Given the description of an element on the screen output the (x, y) to click on. 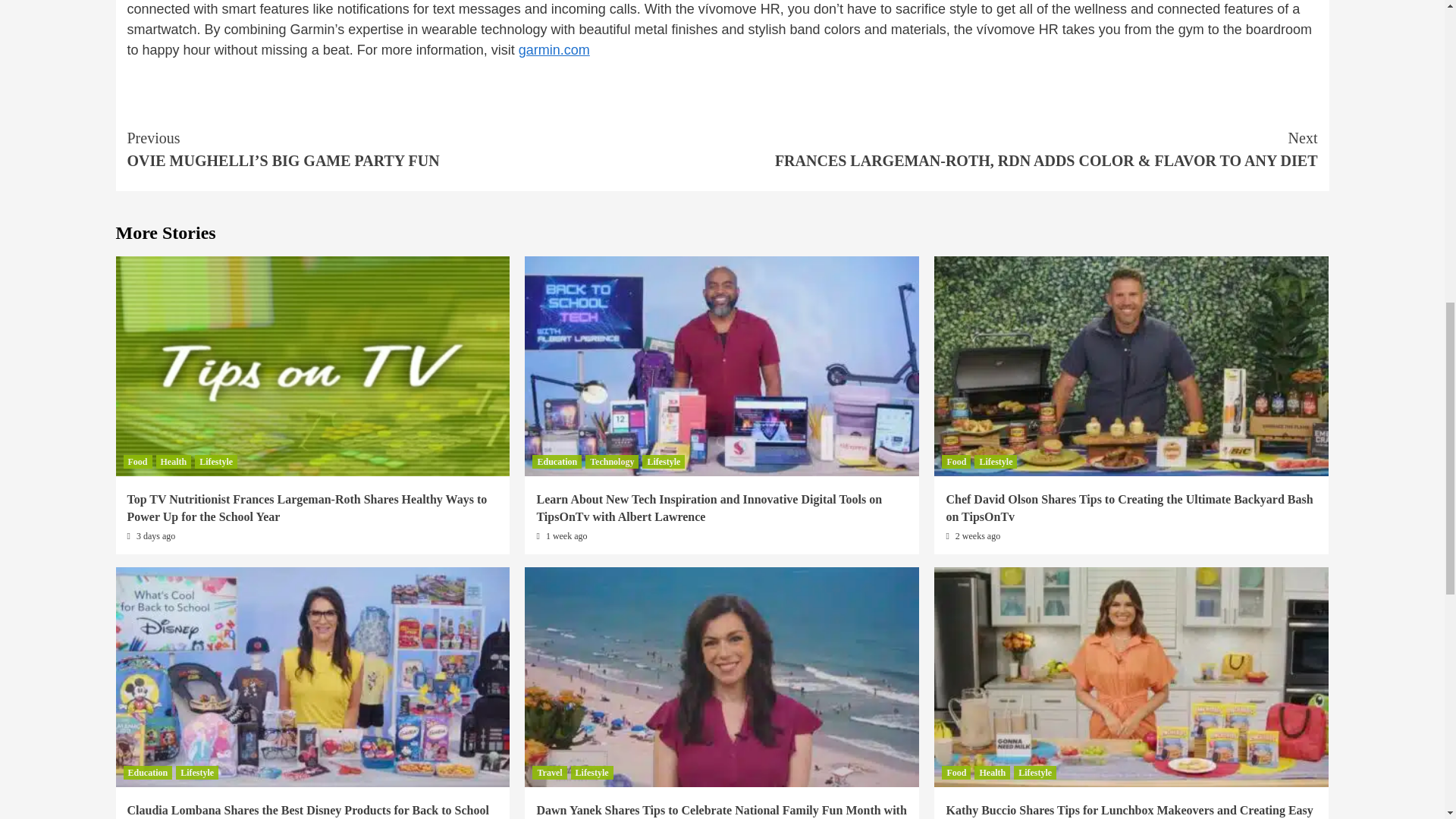
Lifestyle (216, 461)
Food (136, 461)
Health (173, 461)
garmin.com (553, 49)
